Given the description of an element on the screen output the (x, y) to click on. 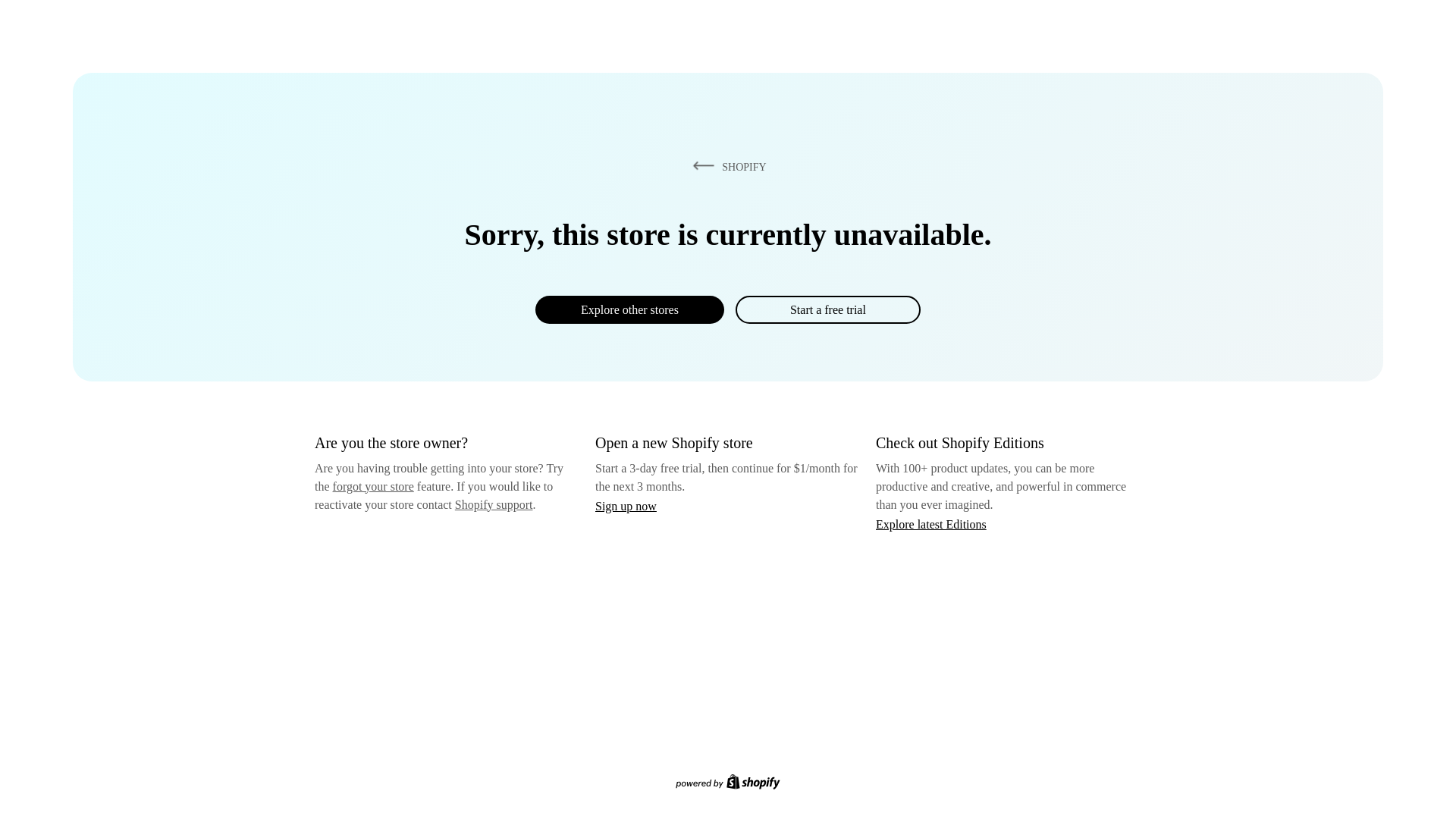
Start a free trial (827, 309)
SHOPIFY (726, 166)
Explore other stores (629, 309)
Sign up now (625, 505)
Shopify support (493, 504)
Explore latest Editions (931, 523)
forgot your store (373, 486)
